Given the description of an element on the screen output the (x, y) to click on. 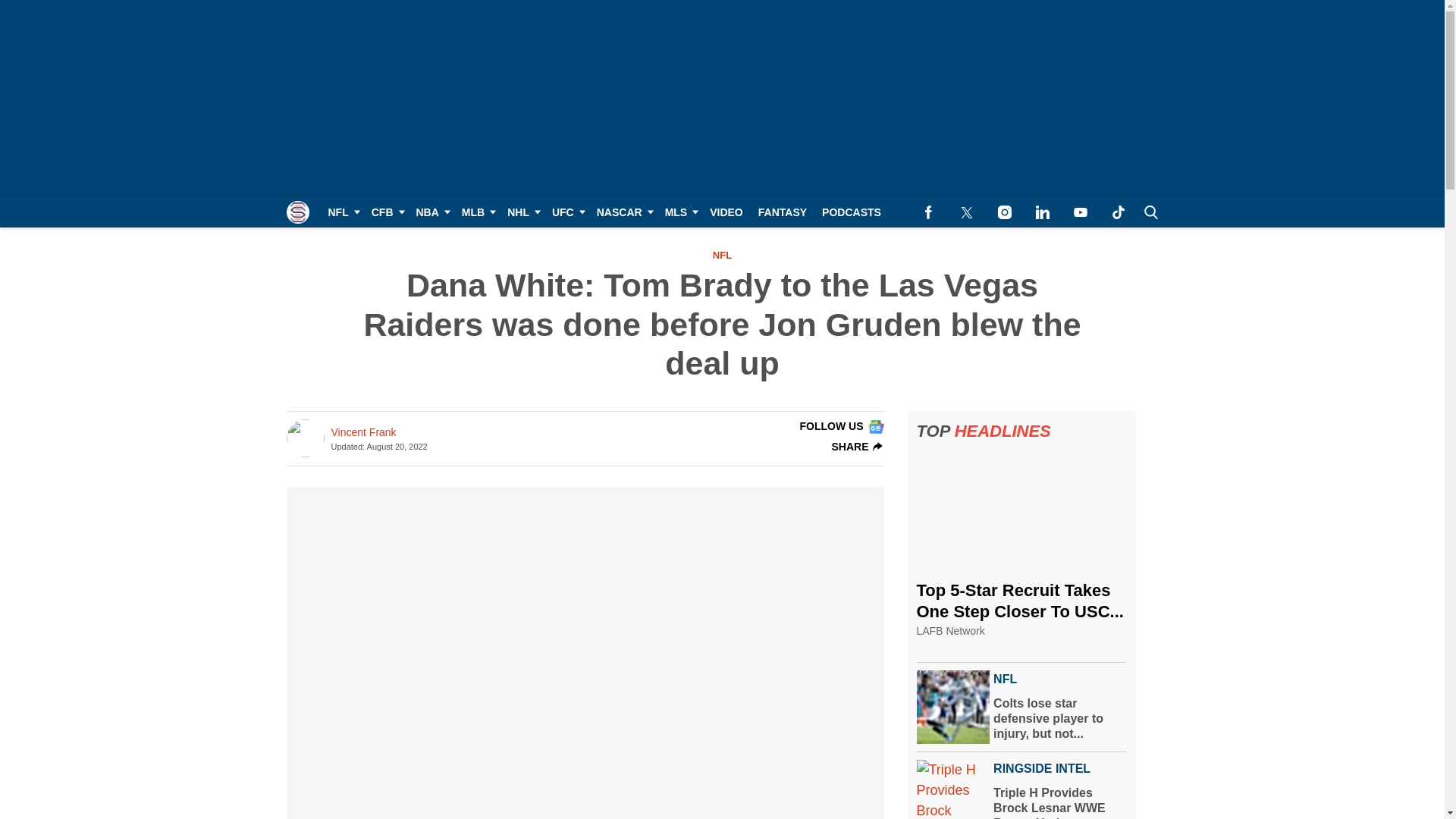
NBA (429, 212)
Subscribe to our YouTube channel (1080, 212)
Follow us on Twitter (966, 212)
Posts by Vincent Frank (363, 432)
UFC (566, 212)
Connect with us on LinkedIn (1042, 212)
MLB (476, 212)
Subscribe to our TikTok channel (1118, 212)
Follow us on Instagram (1004, 212)
Follow us on Facebook (928, 212)
